Given the description of an element on the screen output the (x, y) to click on. 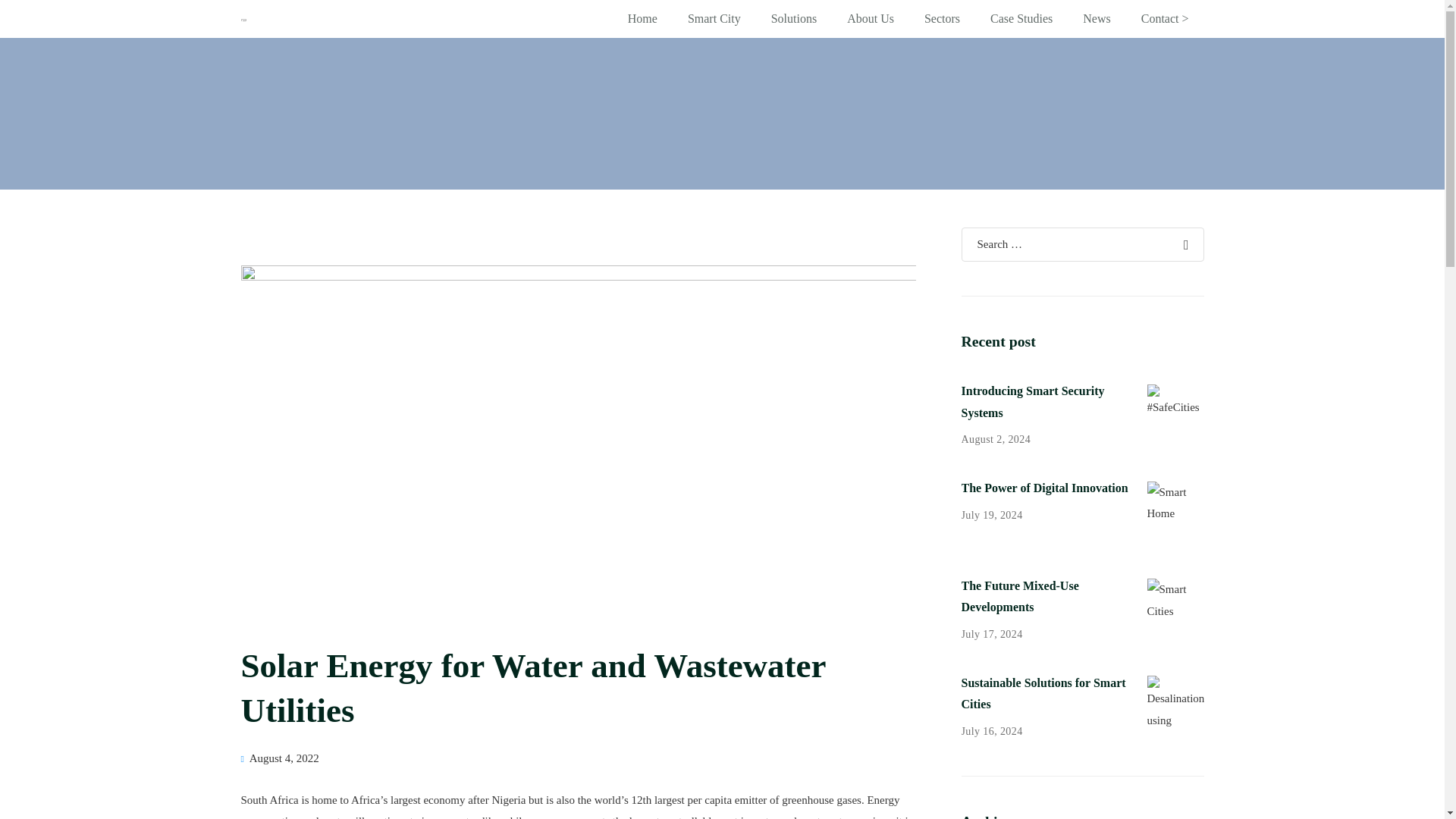
Smart City (713, 18)
Search (1185, 205)
Home (642, 18)
About Us (869, 18)
Sectors (941, 18)
Solutions (793, 18)
Search (1185, 205)
